Given the description of an element on the screen output the (x, y) to click on. 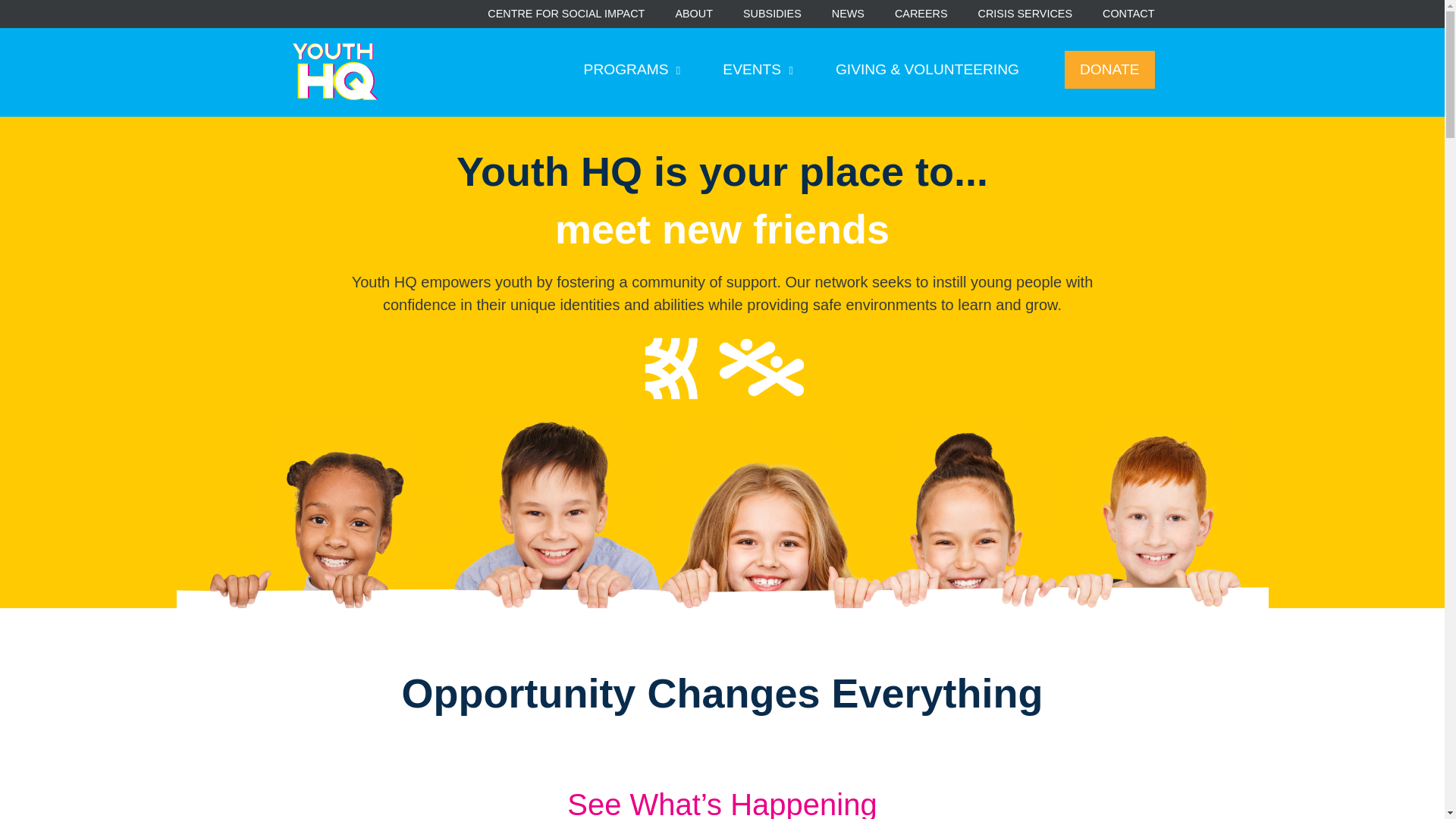
NEWS (847, 13)
CAREERS (921, 13)
SUBSIDIES (772, 13)
ABOUT (694, 13)
DONATE (1109, 69)
CENTRE FOR SOCIAL IMPACT (566, 13)
CONTACT (1128, 13)
EVENTS (757, 69)
PROGRAMS (632, 69)
CRISIS SERVICES (1025, 13)
